Given the description of an element on the screen output the (x, y) to click on. 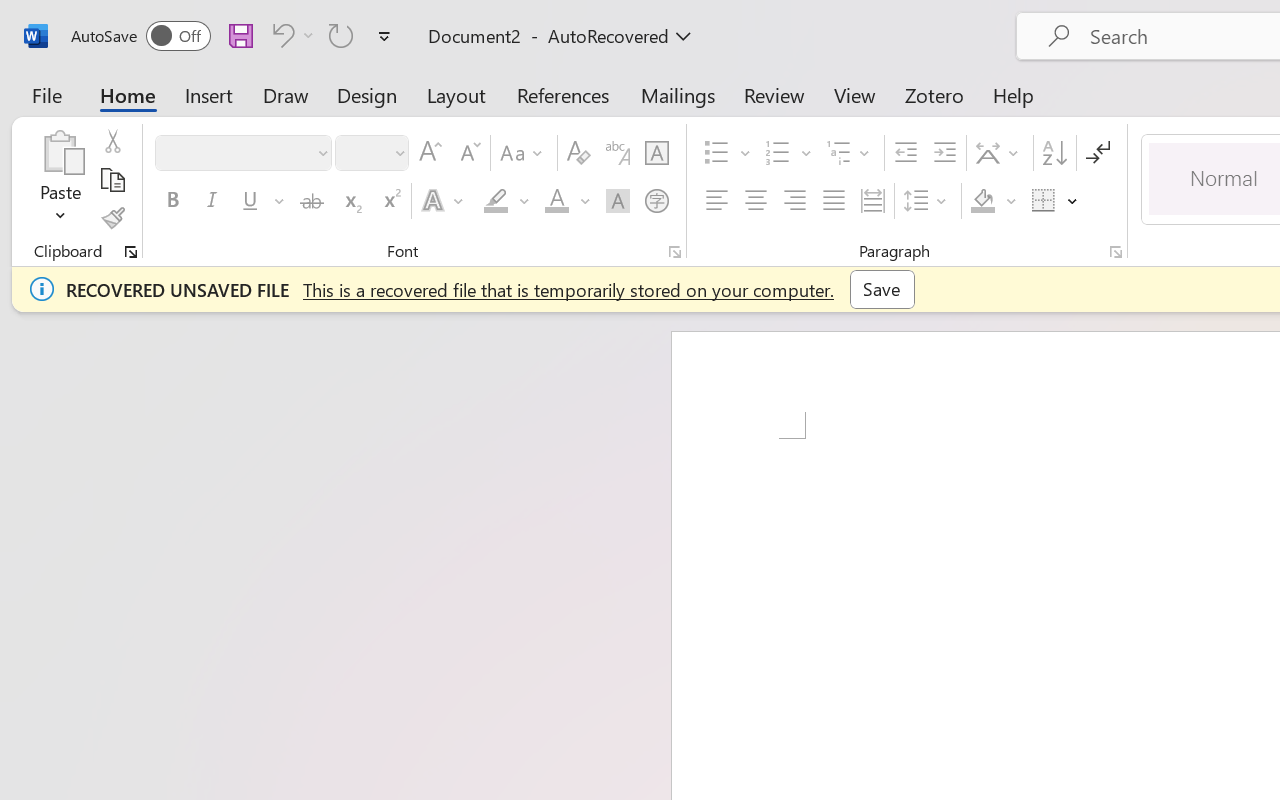
Fall Over (1180, 111)
Cover (1016, 111)
Morph (195, 111)
Reveal (605, 111)
Flash (1098, 111)
